Given the description of an element on the screen output the (x, y) to click on. 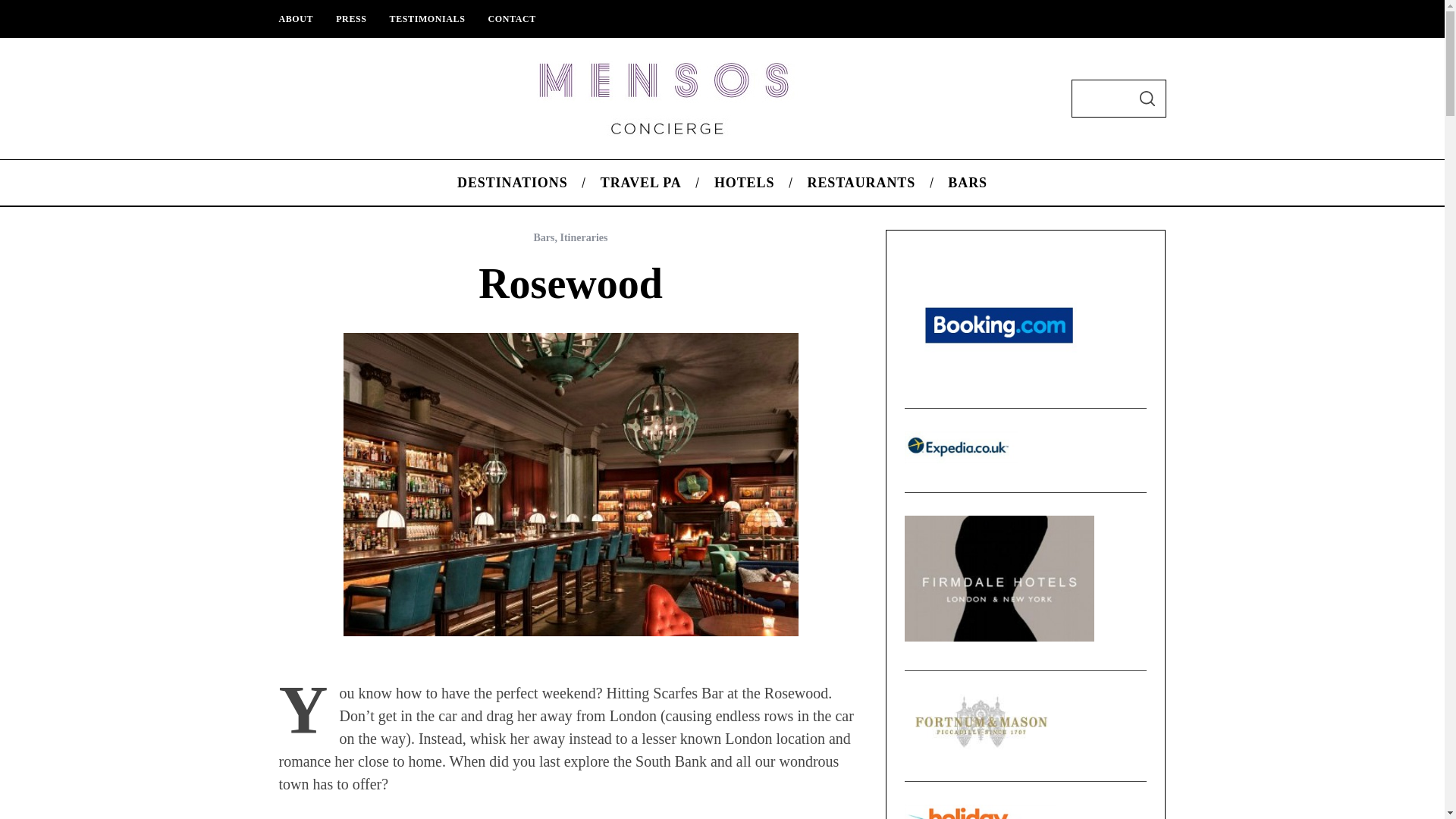
PRESS (350, 18)
DESTINATIONS (512, 182)
SEARCH (1147, 98)
TESTIMONIALS (427, 18)
ABOUT (295, 18)
CONTACT (511, 18)
